Given the description of an element on the screen output the (x, y) to click on. 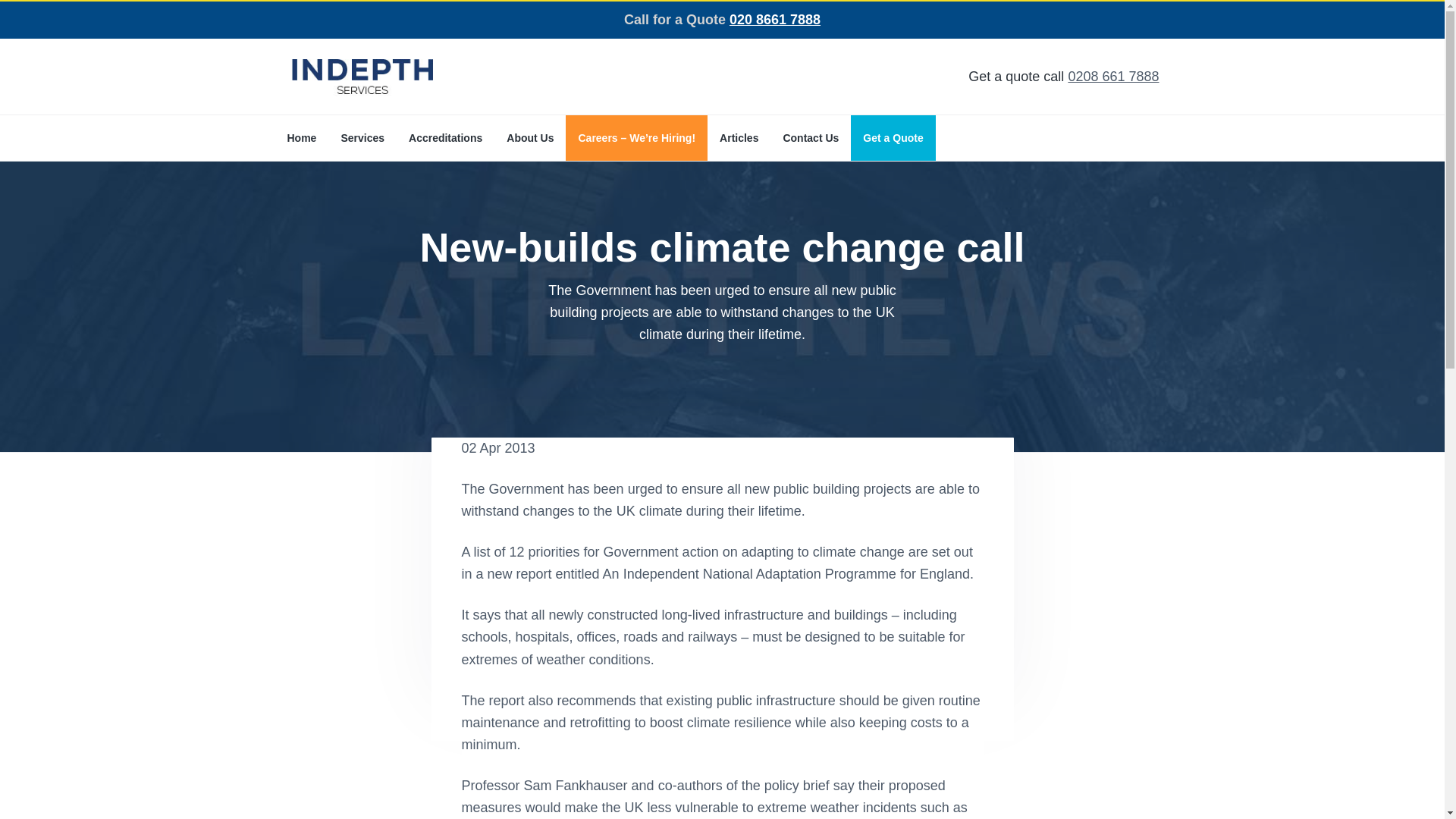
About Us (529, 138)
Accreditations (445, 138)
0208 661 7888 (1112, 76)
Contact Us (810, 138)
Get a Quote (893, 138)
020 8661 7888 (775, 19)
Services (362, 138)
Articles (738, 138)
Home (300, 138)
